Given the description of an element on the screen output the (x, y) to click on. 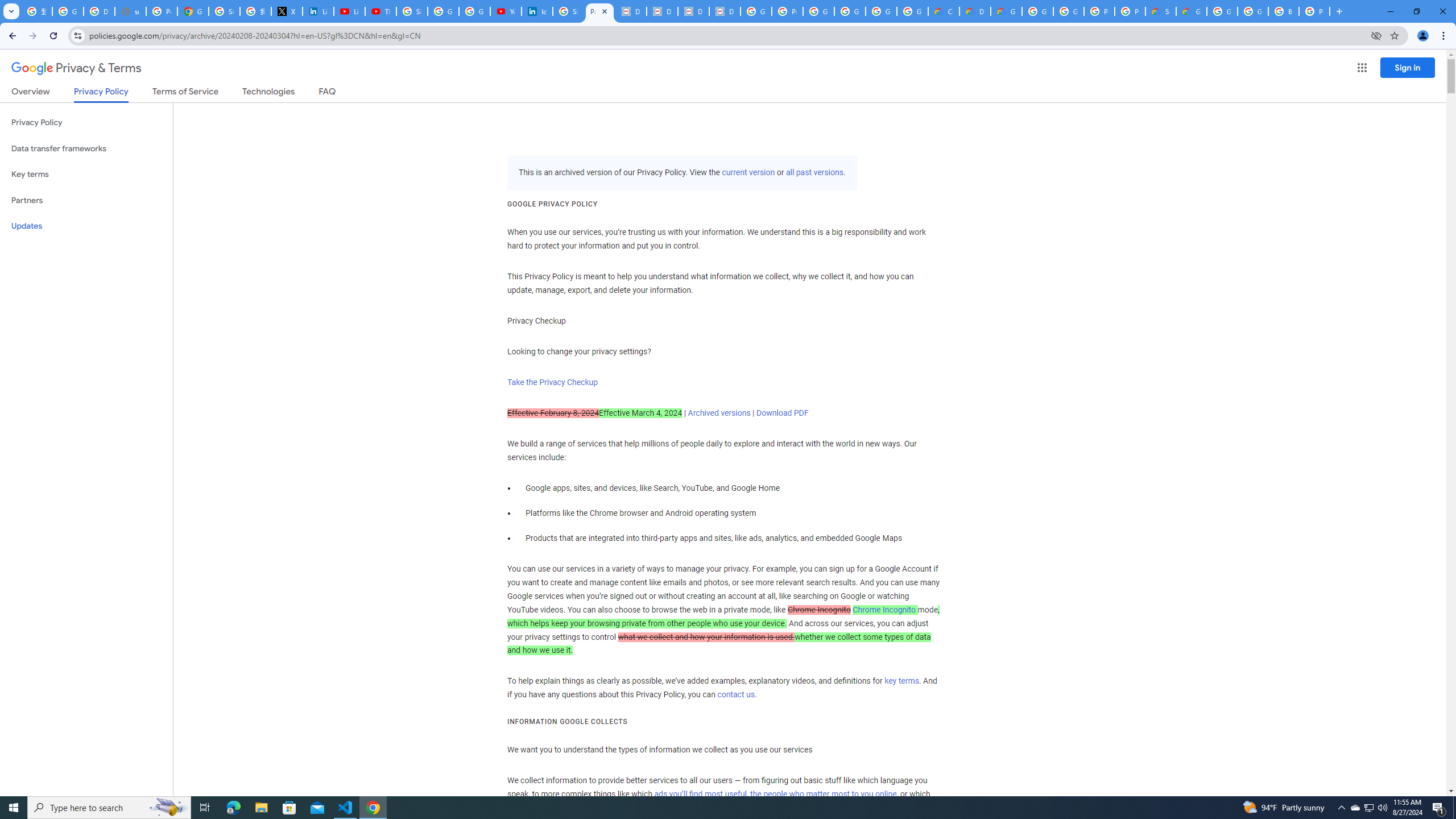
X (286, 11)
Google Cloud Platform (1068, 11)
current version (748, 172)
Google Workspace - Specific Terms (912, 11)
Google Cloud Platform (1222, 11)
Google Cloud Service Health (1190, 11)
all past versions (813, 172)
